Given the description of an element on the screen output the (x, y) to click on. 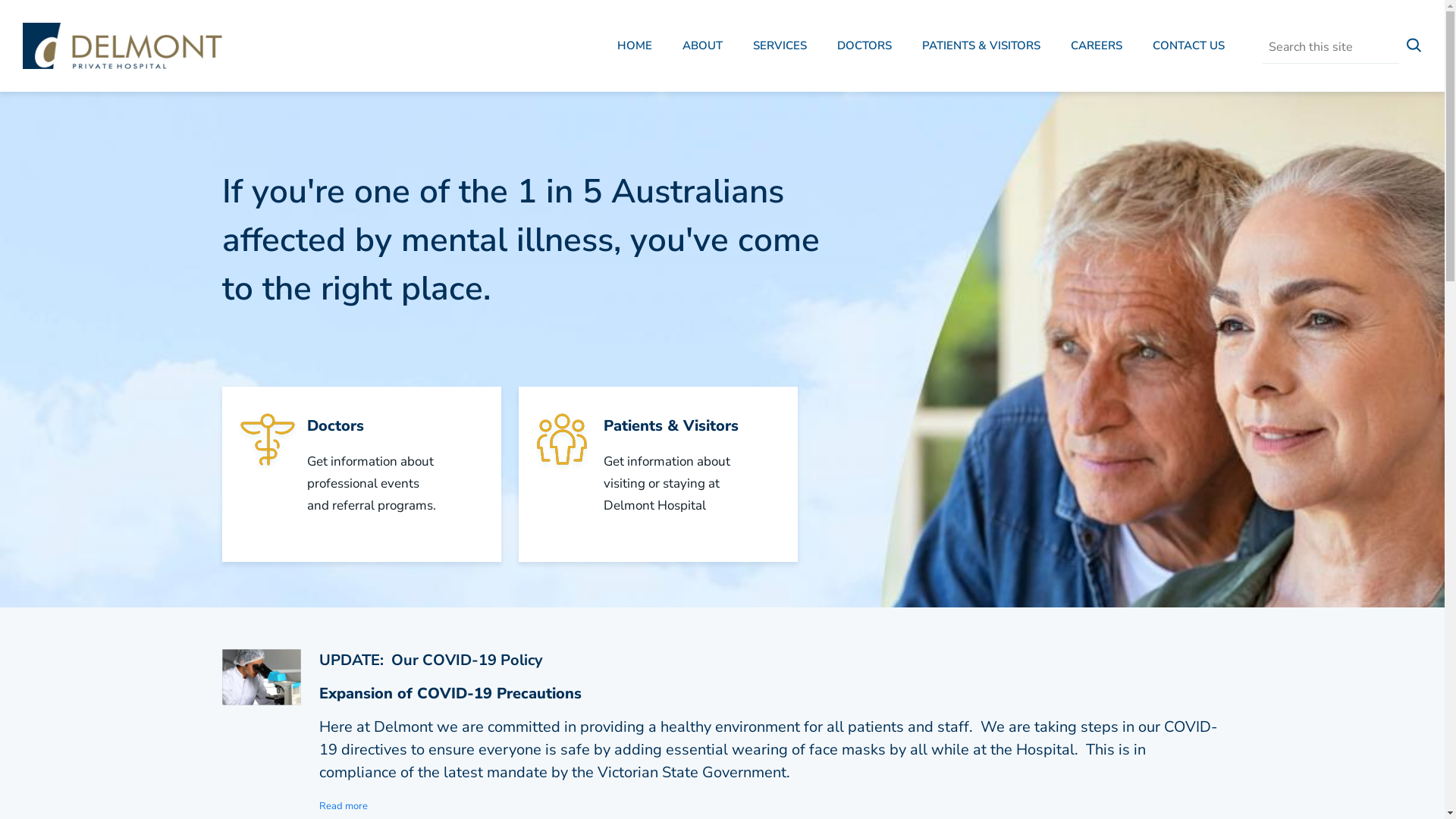
CONTACT US Element type: text (1188, 47)
ABOUT Element type: text (702, 47)
CAREERS Element type: text (1096, 47)
Read more Element type: text (343, 805)
Delmont Hospital Element type: text (122, 45)
Search Element type: text (1261, 62)
DOCTORS Element type: text (864, 47)
Search Element type: text (1413, 47)
SERVICES Element type: text (779, 47)
PATIENTS & VISITORS Element type: text (981, 47)
HOME Element type: text (634, 47)
Enter the terms you wish to search for. Element type: hover (1330, 47)
